Given the description of an element on the screen output the (x, y) to click on. 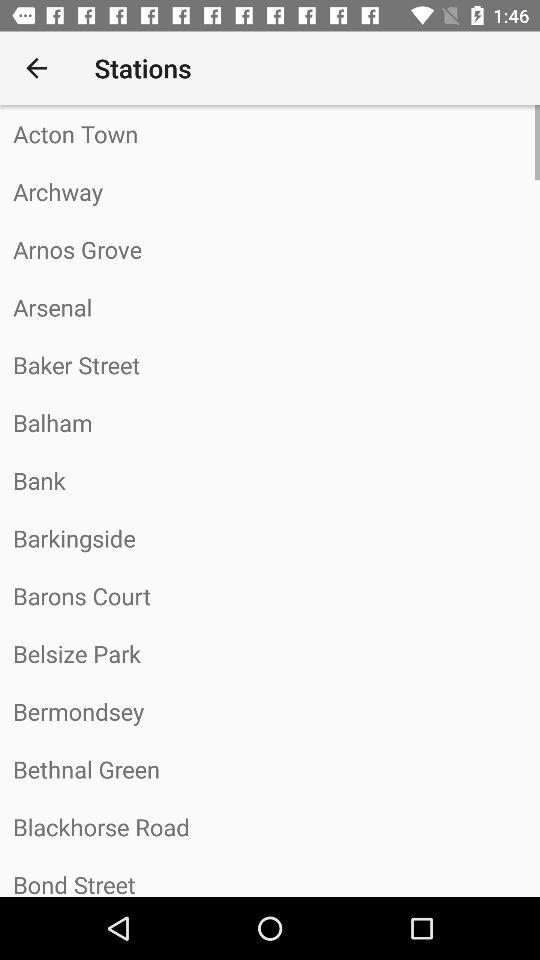
jump until the barons court icon (270, 595)
